Given the description of an element on the screen output the (x, y) to click on. 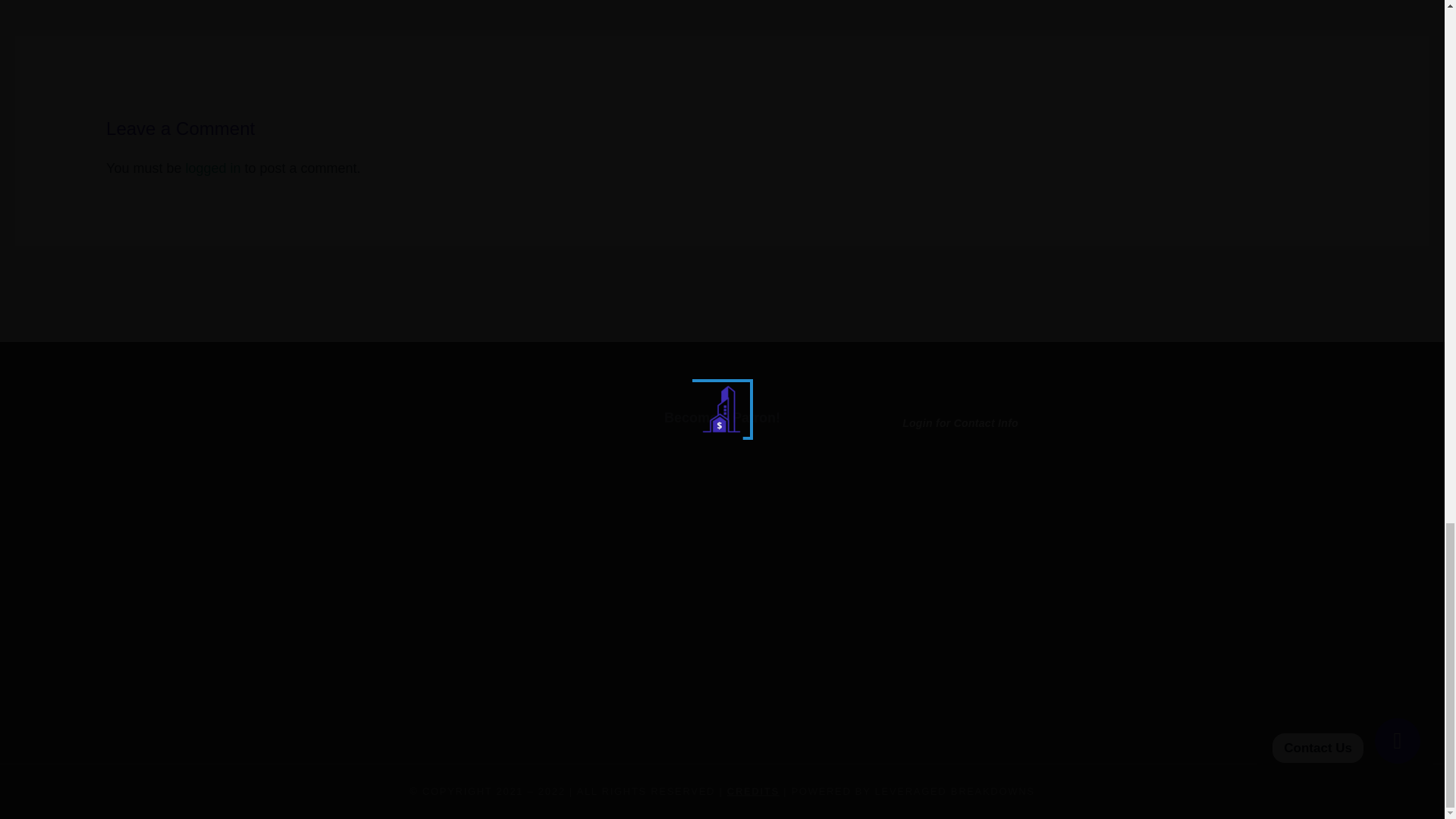
Real Estate Private Equity Interview Prep: The Capital Stack (1393, 3)
